Given the description of an element on the screen output the (x, y) to click on. 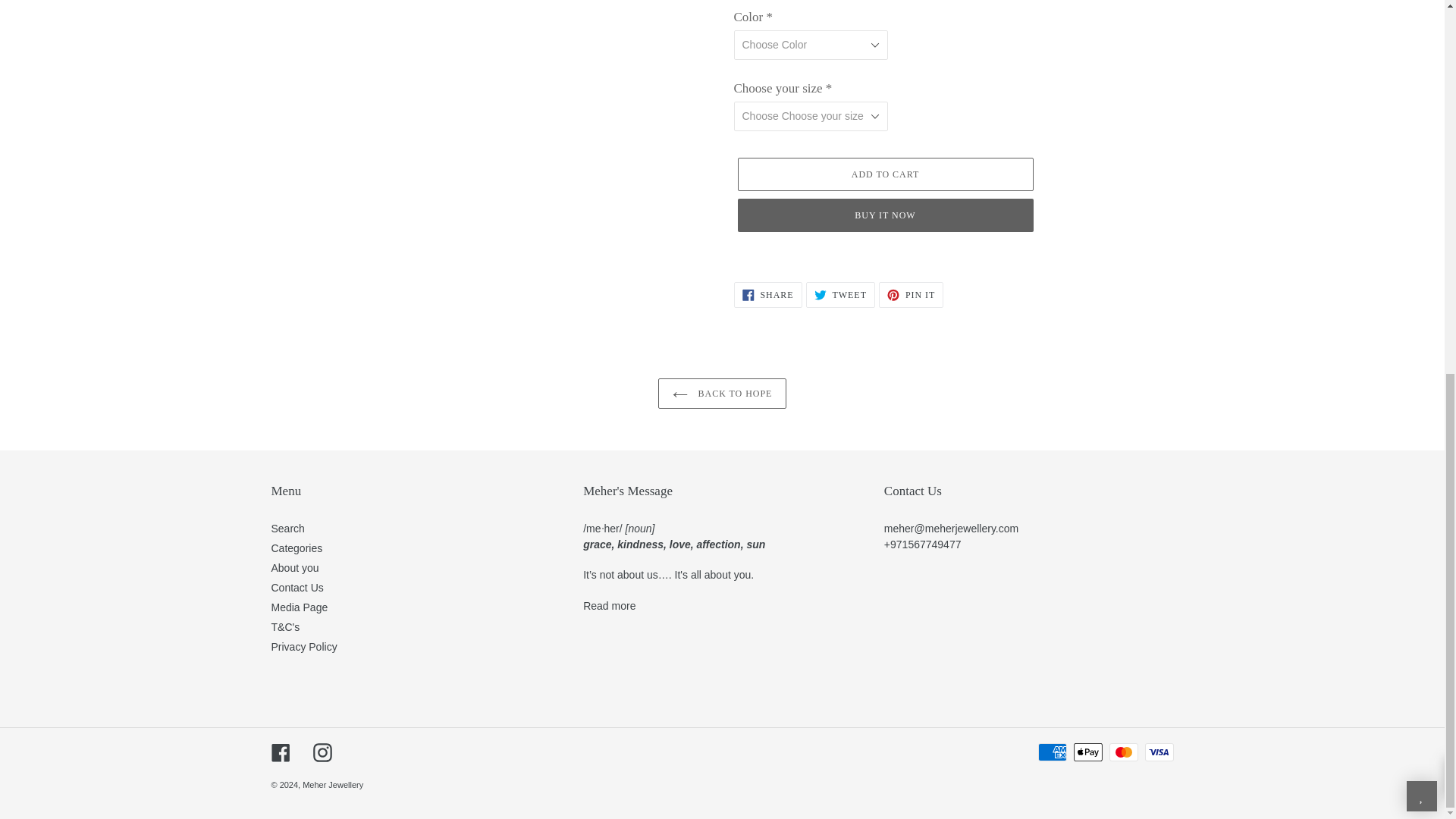
Meher's Message (608, 605)
